Given the description of an element on the screen output the (x, y) to click on. 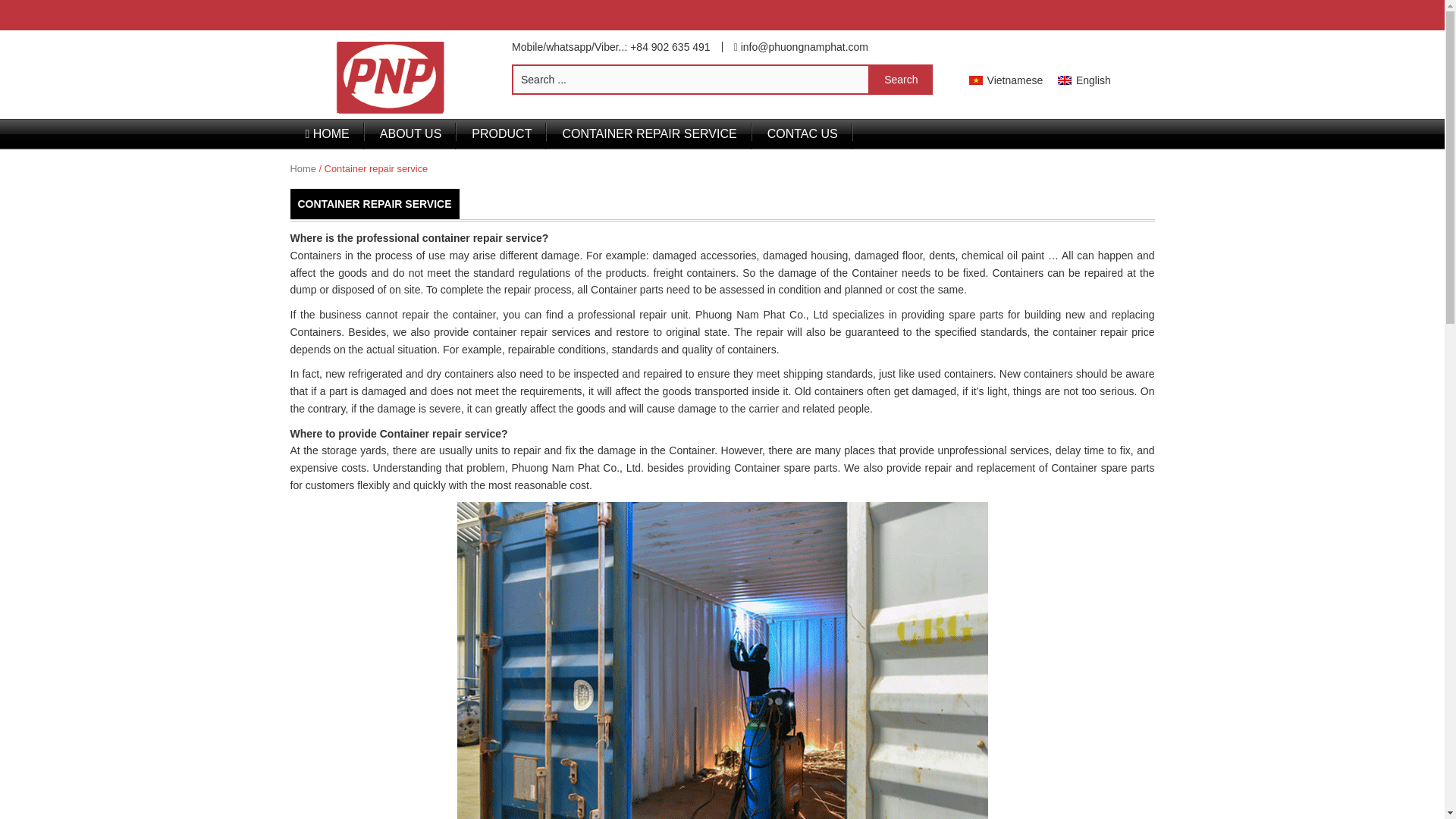
Search ... (690, 79)
Search (901, 79)
Search (901, 79)
HOME (326, 133)
Home (302, 168)
English (1083, 79)
ABOUT US (411, 133)
Vietnamese (1004, 79)
Search (901, 79)
Search ... (690, 79)
English (1064, 80)
CONTAC US (802, 133)
PRODUCT (502, 133)
CONTAINER REPAIR SERVICE (649, 133)
